Given the description of an element on the screen output the (x, y) to click on. 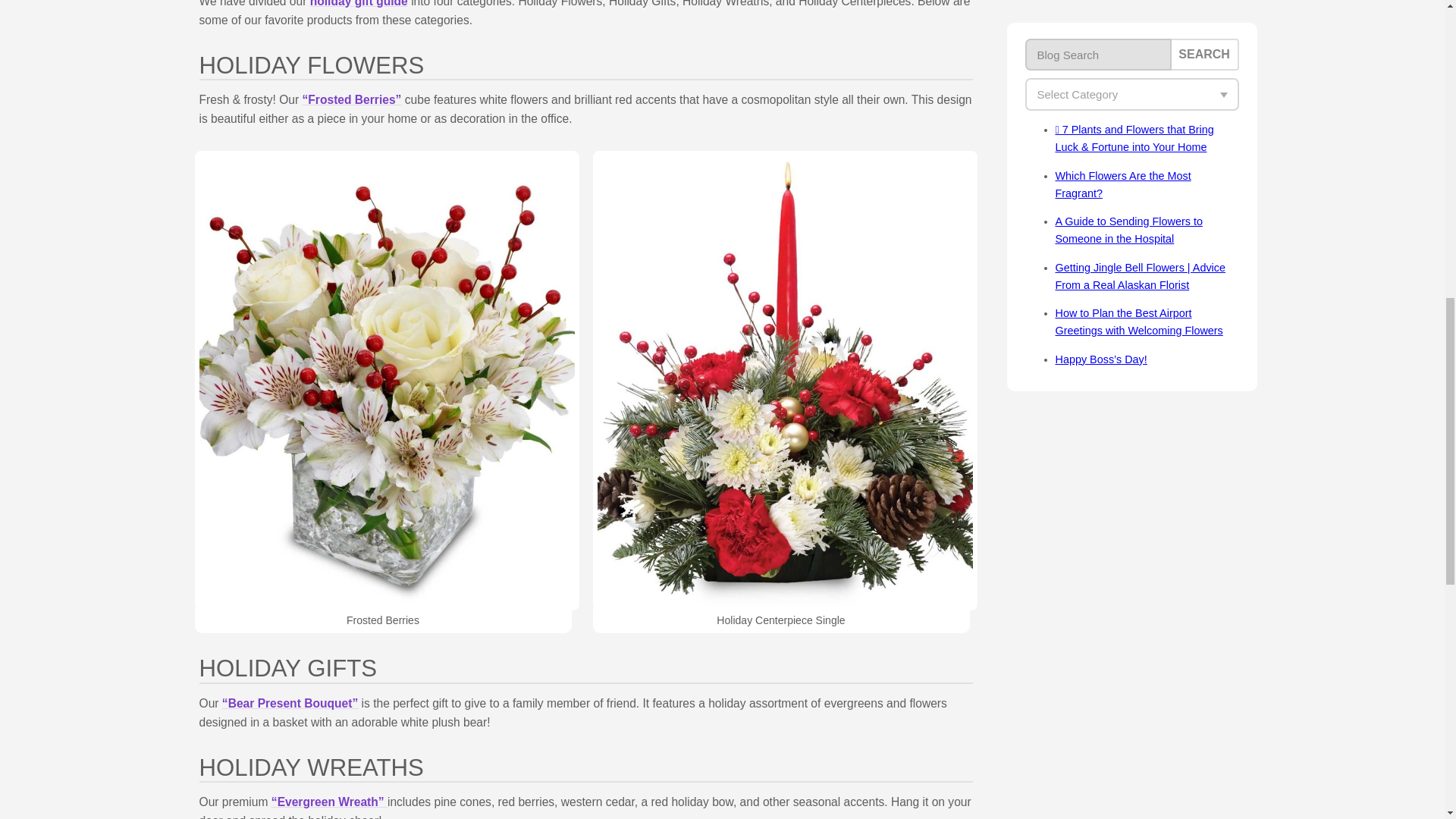
holiday gift guide (358, 3)
